Given the description of an element on the screen output the (x, y) to click on. 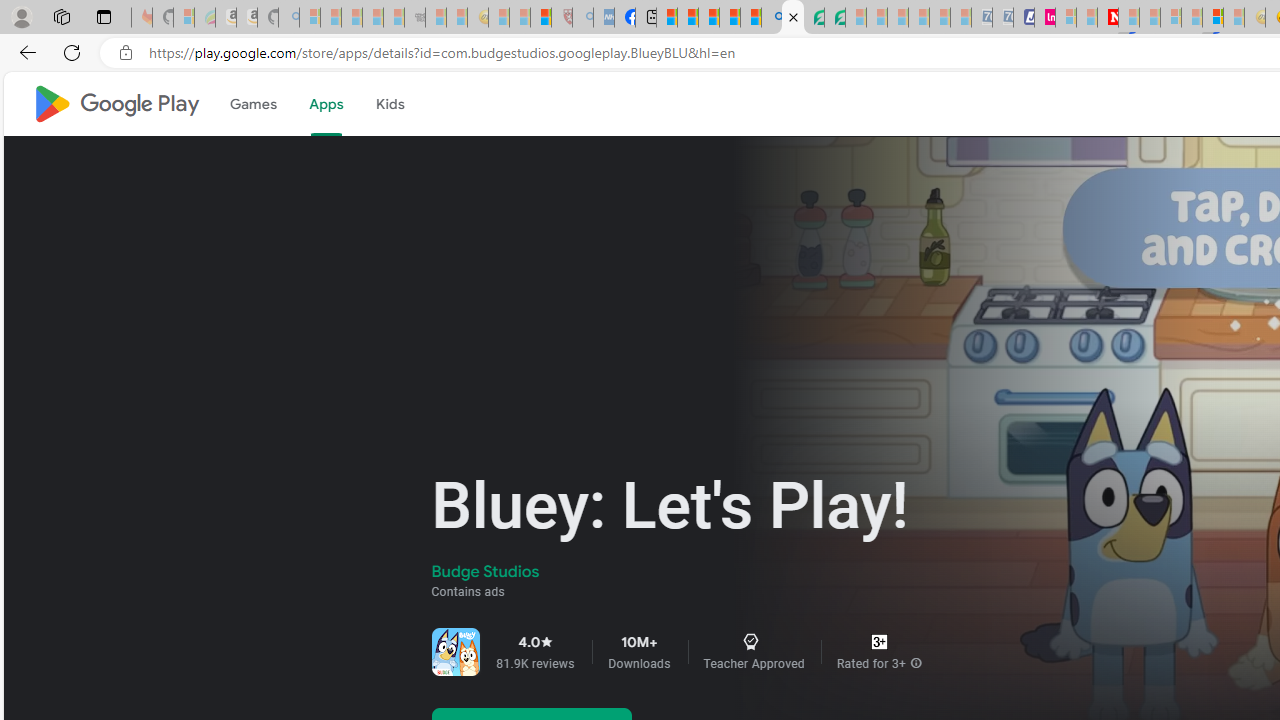
Local - MSN (541, 17)
